Given the description of an element on the screen output the (x, y) to click on. 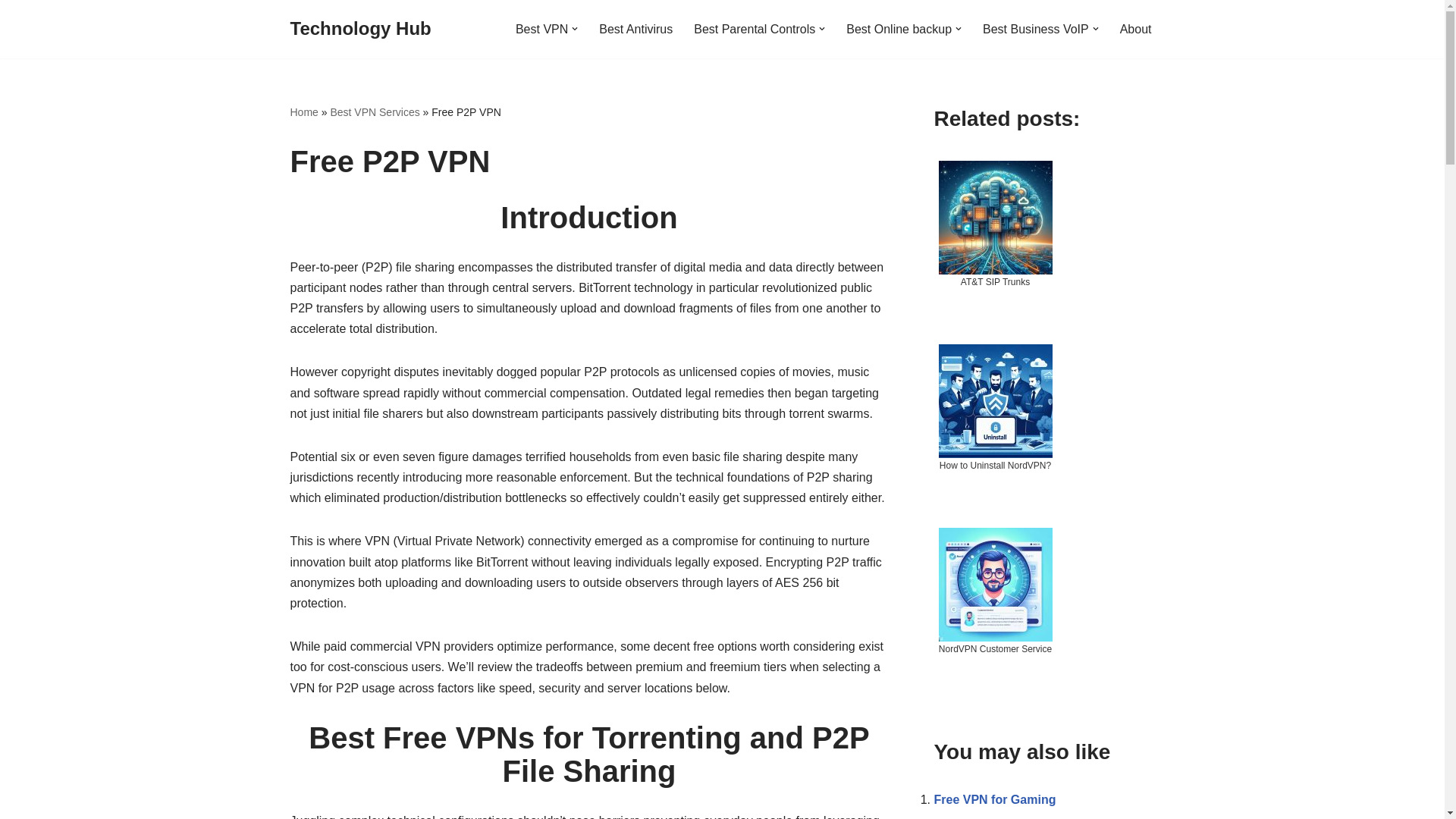
Technology Hub (359, 29)
Best Parental Controls (754, 28)
Best VPN (541, 28)
Best Business VoIP (1035, 28)
Best Antivirus (635, 28)
Best Online backup (898, 28)
Skip to content (11, 31)
